Given the description of an element on the screen output the (x, y) to click on. 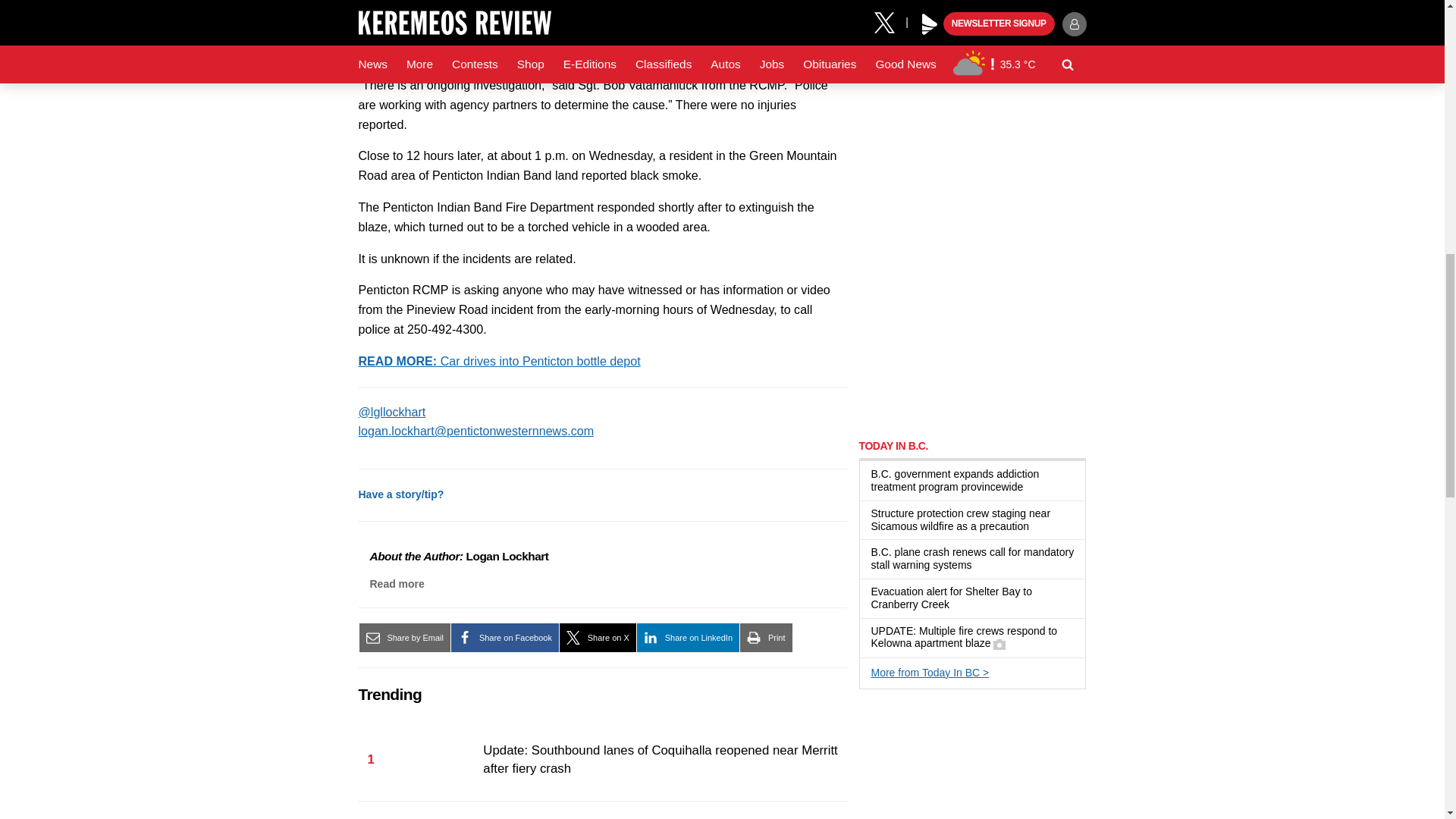
3rd party ad content (972, 124)
3rd party ad content (972, 329)
3rd party ad content (972, 761)
Has a gallery (999, 644)
